Given the description of an element on the screen output the (x, y) to click on. 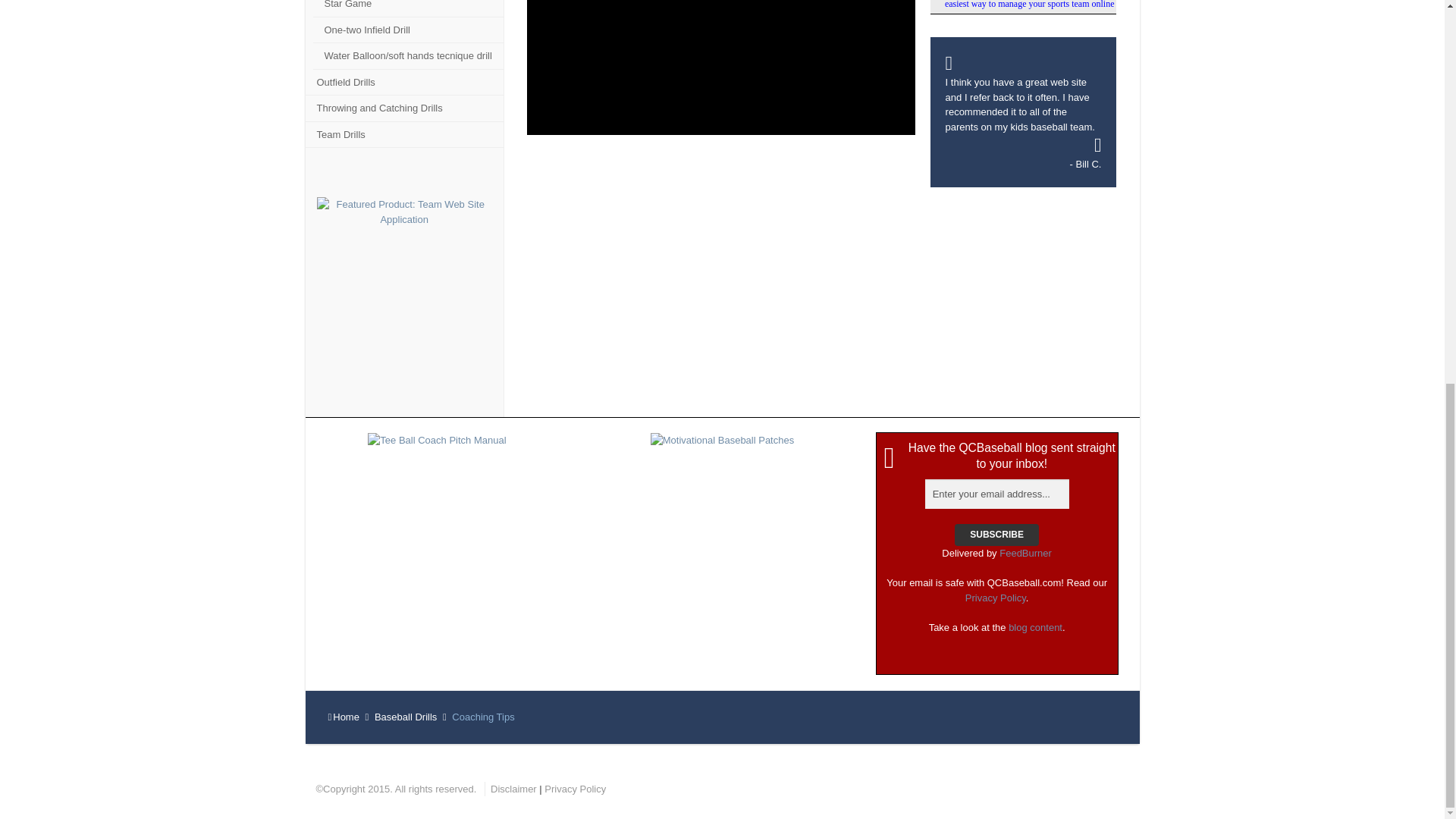
Enter your email address... (996, 494)
One-two Infield Drill (407, 29)
Subscribe (997, 535)
Outfield Drills (403, 82)
Star Game (407, 8)
Throwing and Catching Drills (403, 108)
Team Drills (403, 134)
